Given the description of an element on the screen output the (x, y) to click on. 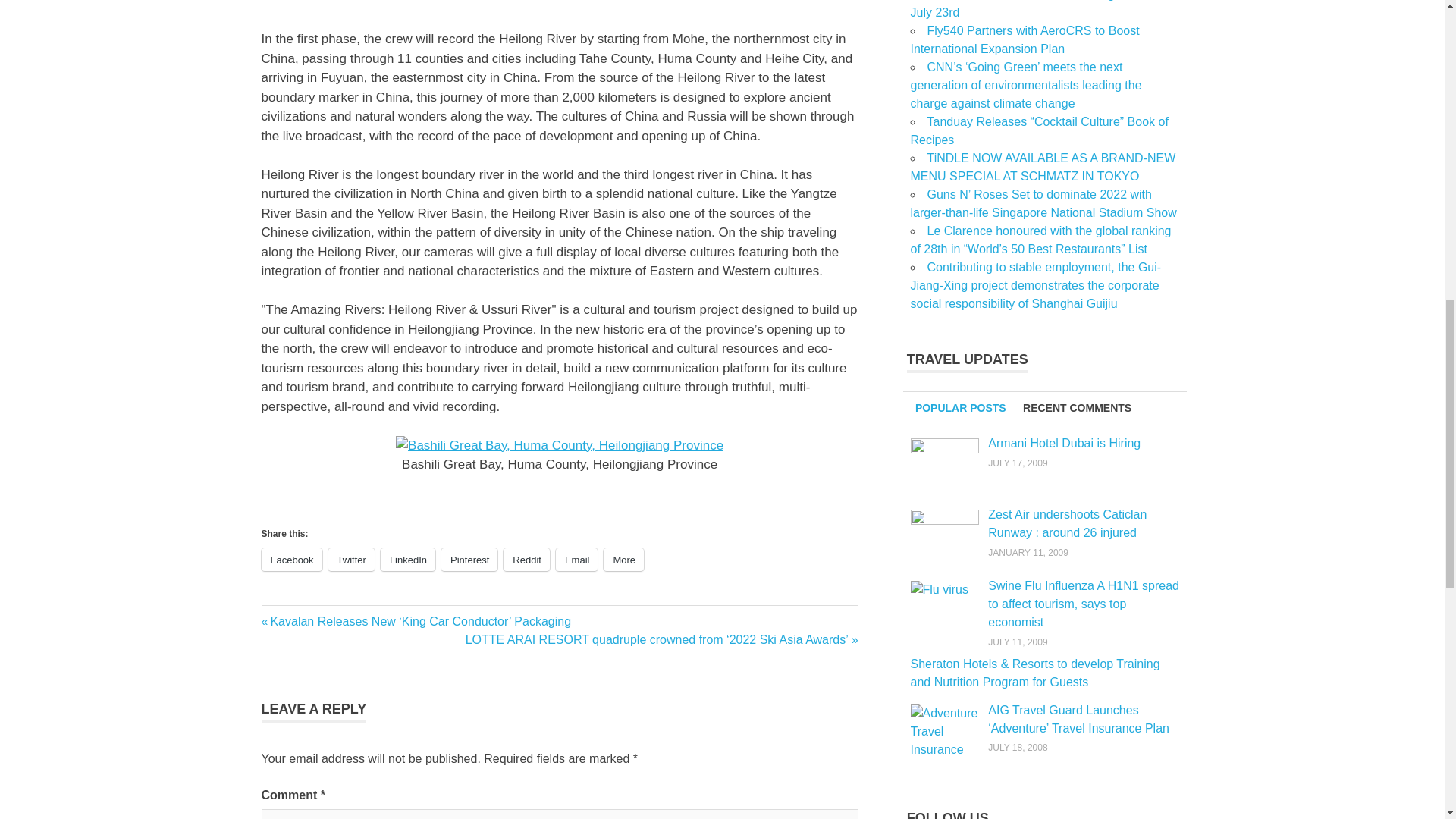
Reddit (526, 558)
Click to share on Twitter (351, 558)
Twitter (351, 558)
Armani Hotel Dubai is Hiring (1064, 442)
Facebook (290, 558)
Click to share on Facebook (290, 558)
Email (577, 558)
Pinterest (469, 558)
Bashili Great Bay, Huma County, Heilongjiang Province (559, 444)
